Given the description of an element on the screen output the (x, y) to click on. 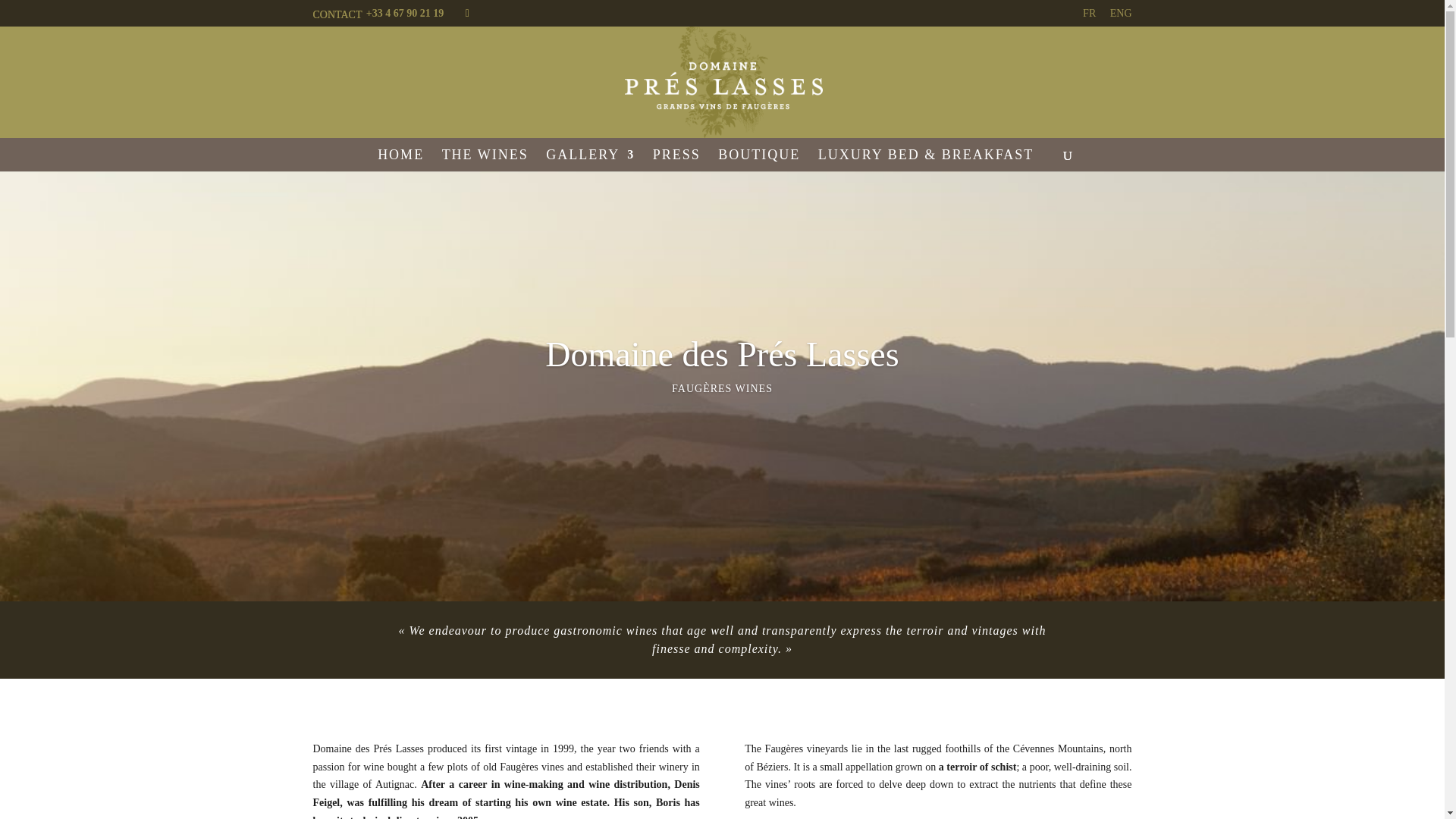
THE WINES (485, 160)
Eng (1120, 16)
PRESS (676, 160)
BOUTIQUE (758, 160)
GALLERY (590, 160)
HOME (400, 160)
ENG (1120, 16)
